Given the description of an element on the screen output the (x, y) to click on. 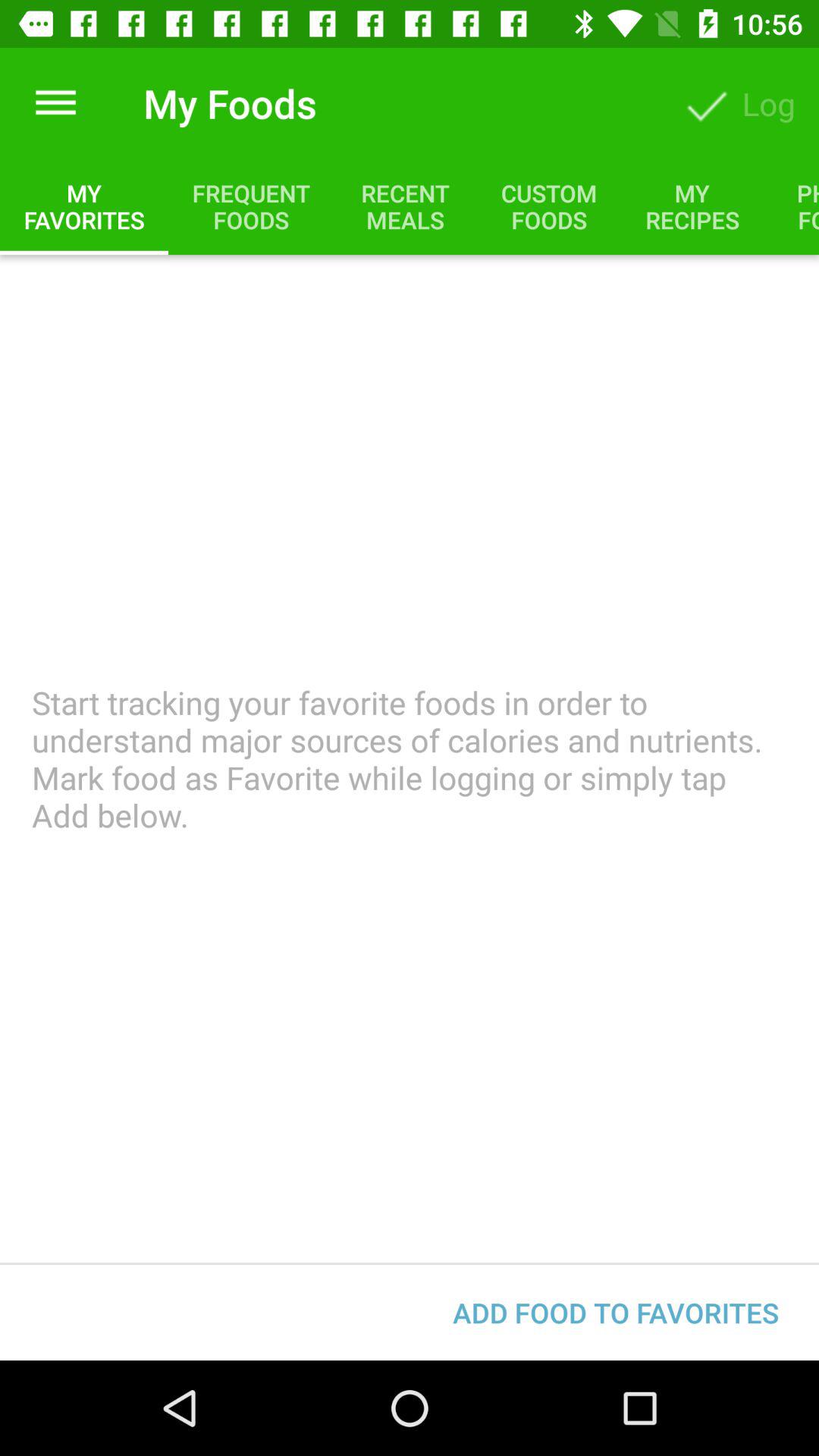
launch the icon to the left of my foods (55, 103)
